Given the description of an element on the screen output the (x, y) to click on. 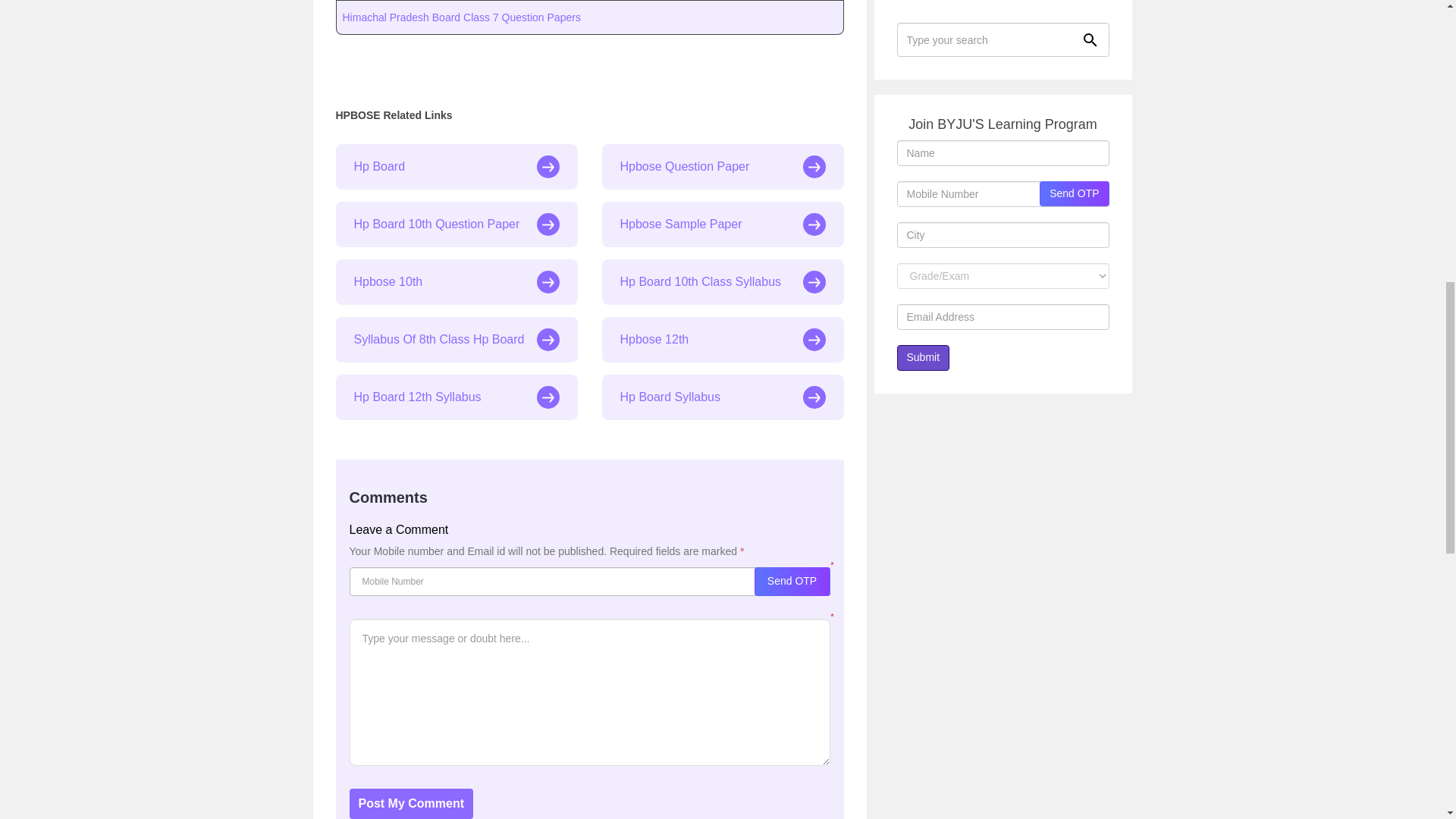
Hp Board 10th Class Syllabus (723, 281)
Hpbose 10th (455, 281)
Hpbose Question Paper (723, 166)
Hpbose 12th (723, 339)
Hp Board 10th Question Paper (455, 224)
Hpbose Sample Paper (723, 224)
Hp Board Syllabus (723, 397)
Hp Board (455, 166)
Syllabus Of 8th Class Hp Board (455, 339)
Hp Board 12th Syllabus (455, 397)
